Given the description of an element on the screen output the (x, y) to click on. 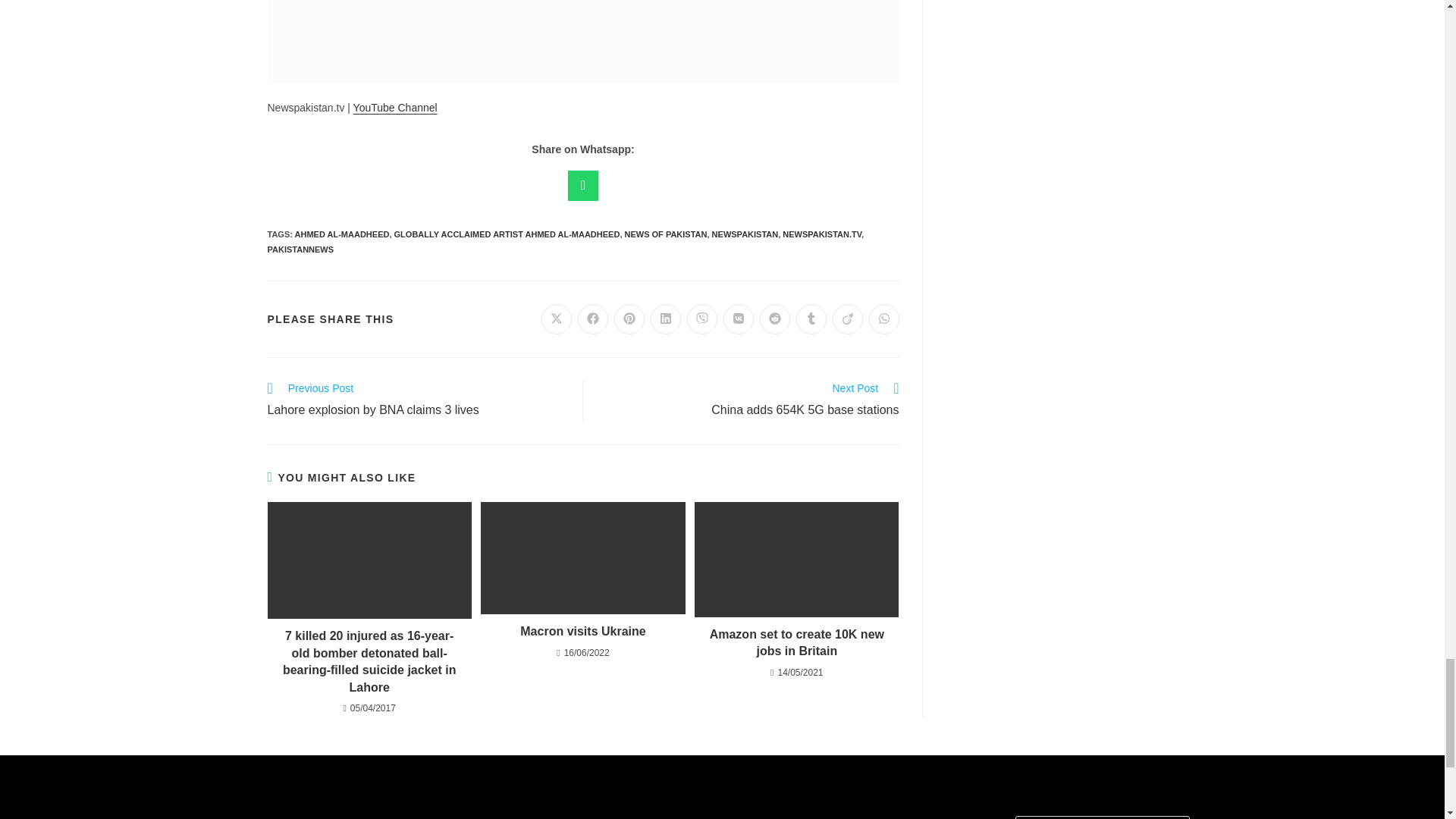
Artist in Paris 6 (582, 41)
